Given the description of an element on the screen output the (x, y) to click on. 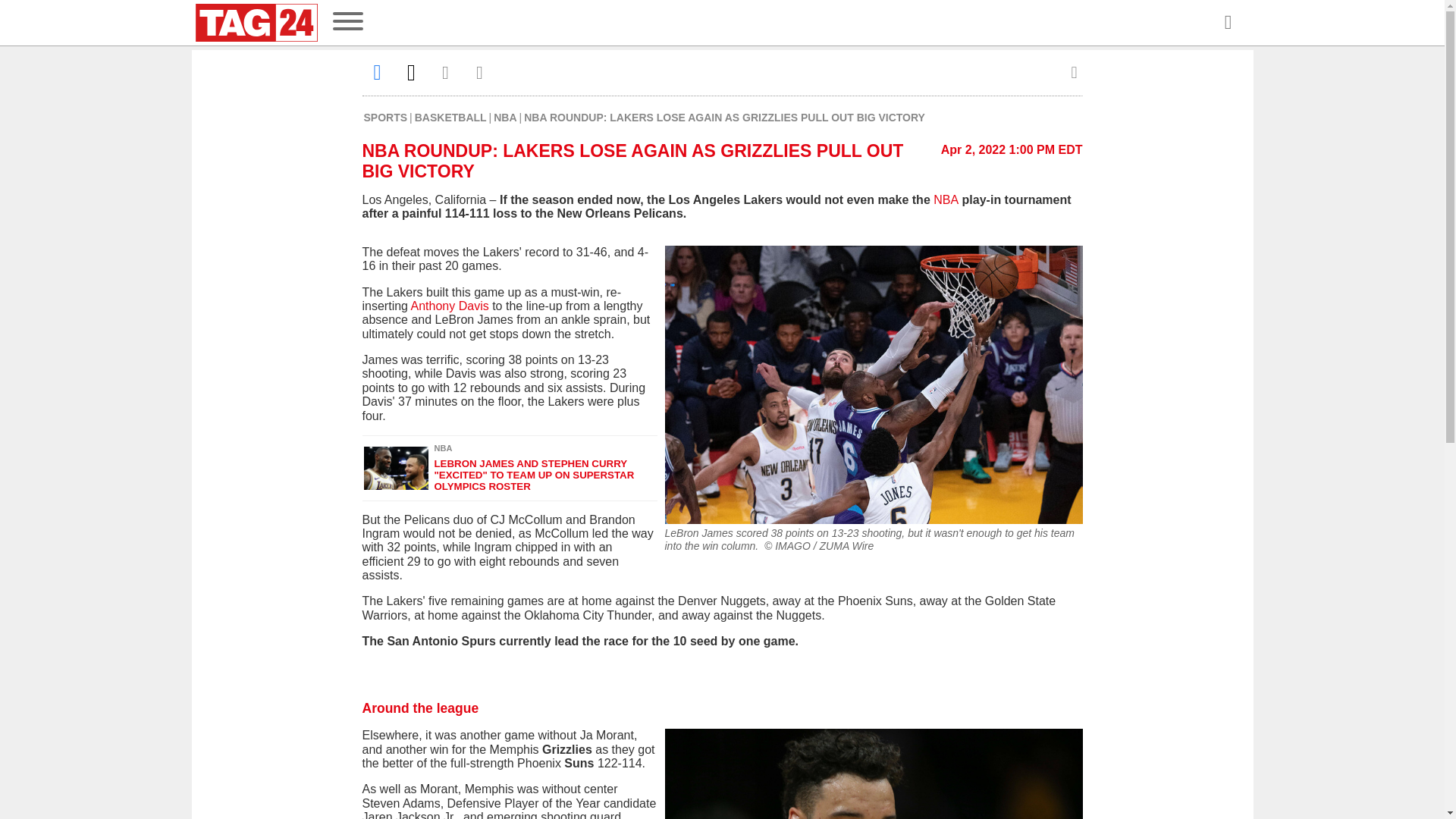
Share on Twitter (411, 72)
Open search (1227, 22)
menu (347, 22)
Share on Facebook (377, 72)
Share via mail (445, 72)
SPORTS (385, 117)
NBA (945, 199)
BASKETBALL (450, 117)
NBA (504, 117)
Anthony Davis (451, 305)
